Given the description of an element on the screen output the (x, y) to click on. 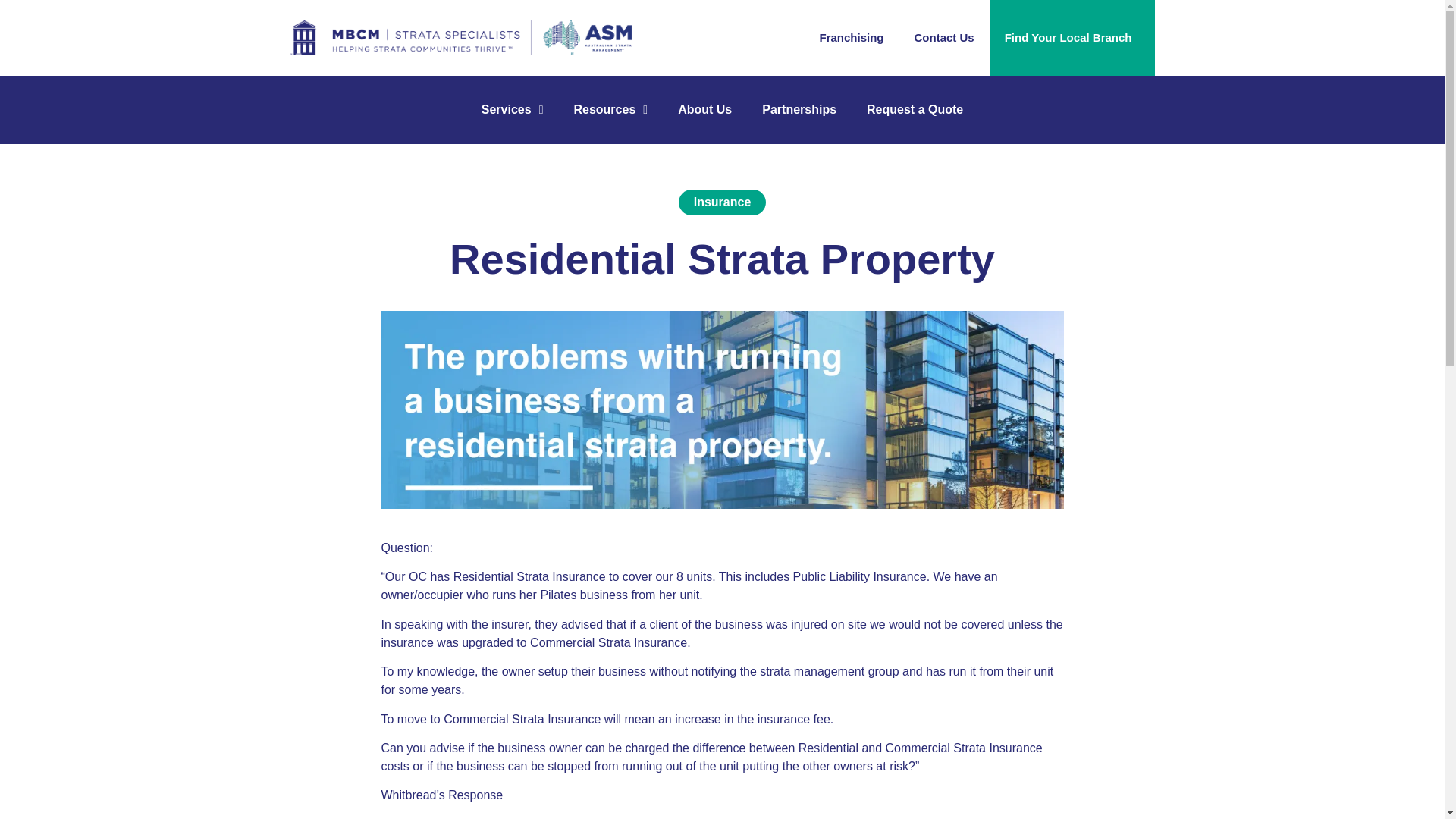
Contact Us (944, 38)
Franchising (850, 38)
Find Your Local Branch (1072, 38)
